Given the description of an element on the screen output the (x, y) to click on. 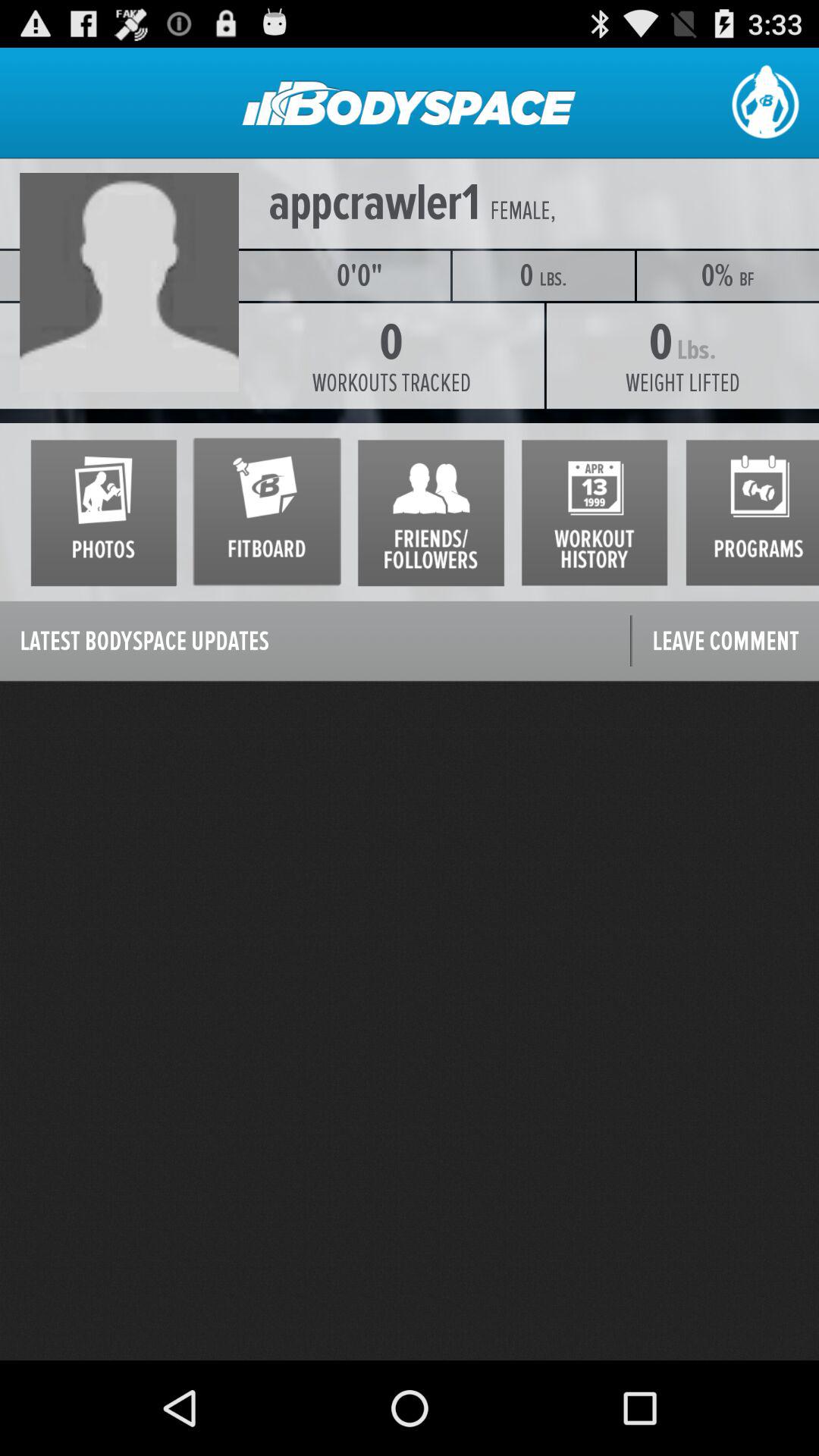
jump to female (519, 210)
